Given the description of an element on the screen output the (x, y) to click on. 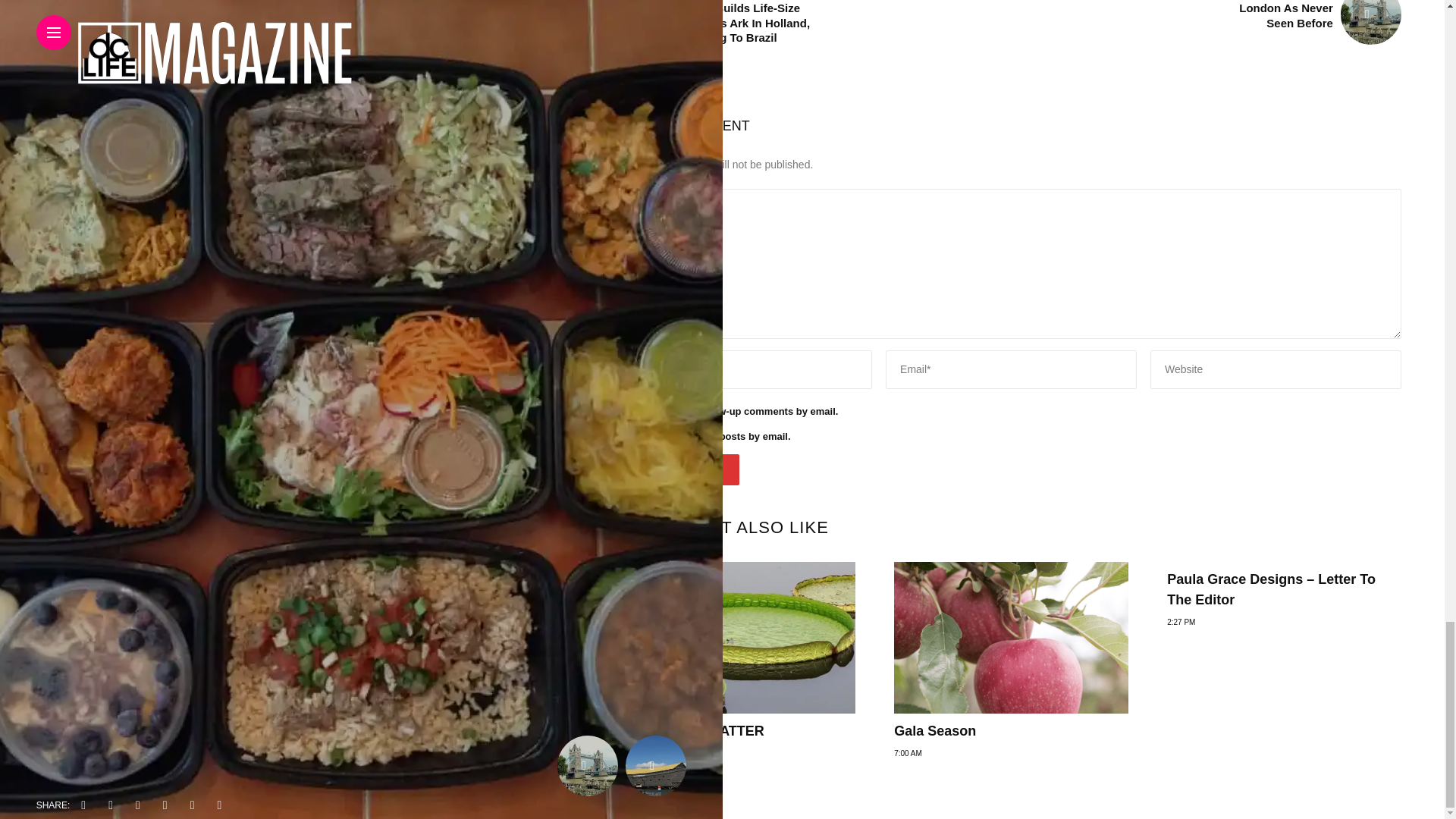
Post Comment (680, 469)
subscribe (625, 435)
subscribe (625, 410)
